Given the description of an element on the screen output the (x, y) to click on. 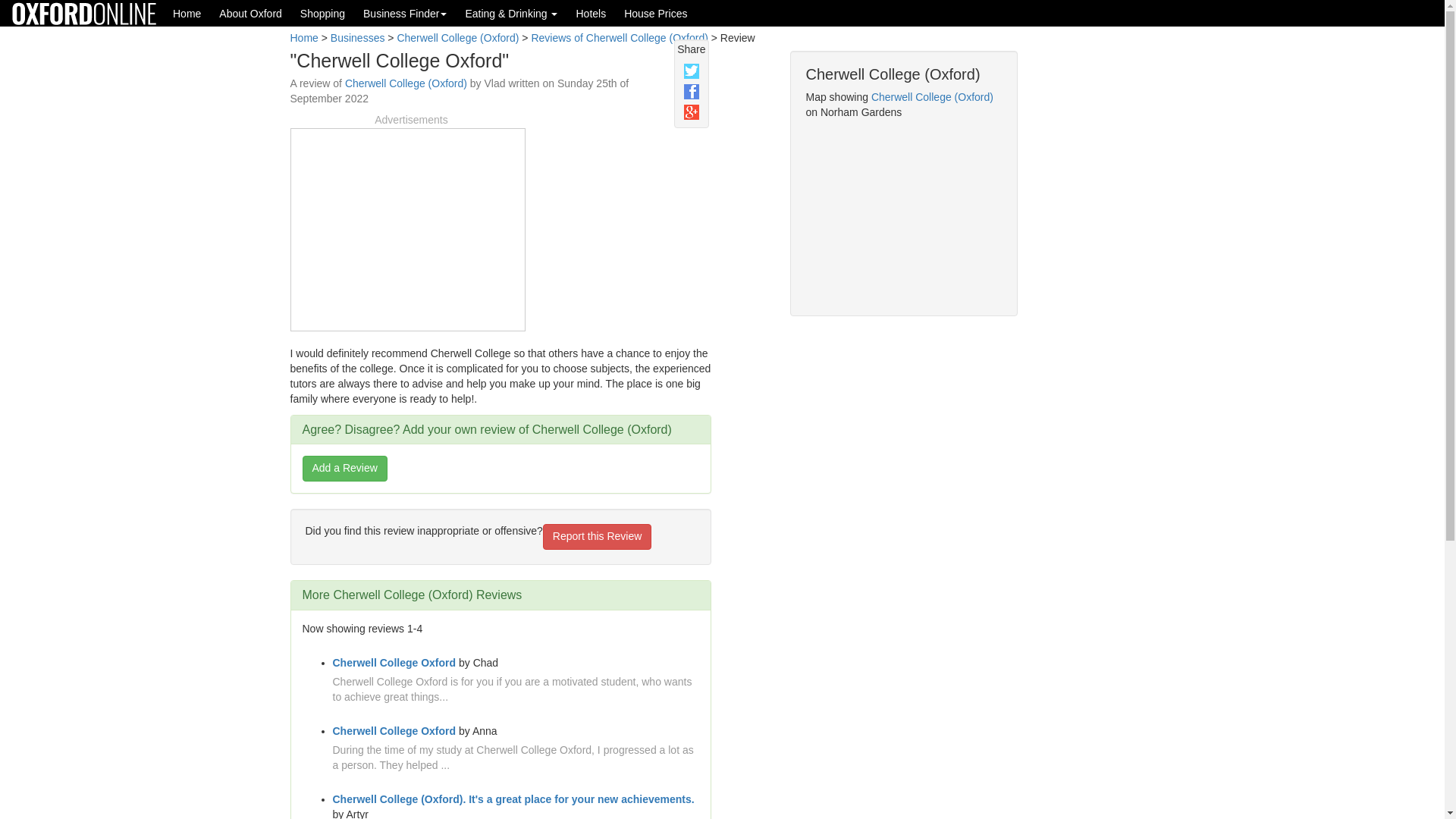
Cherwell College Oxford (393, 730)
Businesses (357, 37)
Cherwell College Oxford (393, 662)
About Oxford (250, 12)
Shopping (322, 12)
Home (186, 12)
House Prices (654, 12)
Add a Review (344, 468)
Business Finder (404, 12)
Hotels (590, 12)
